Given the description of an element on the screen output the (x, y) to click on. 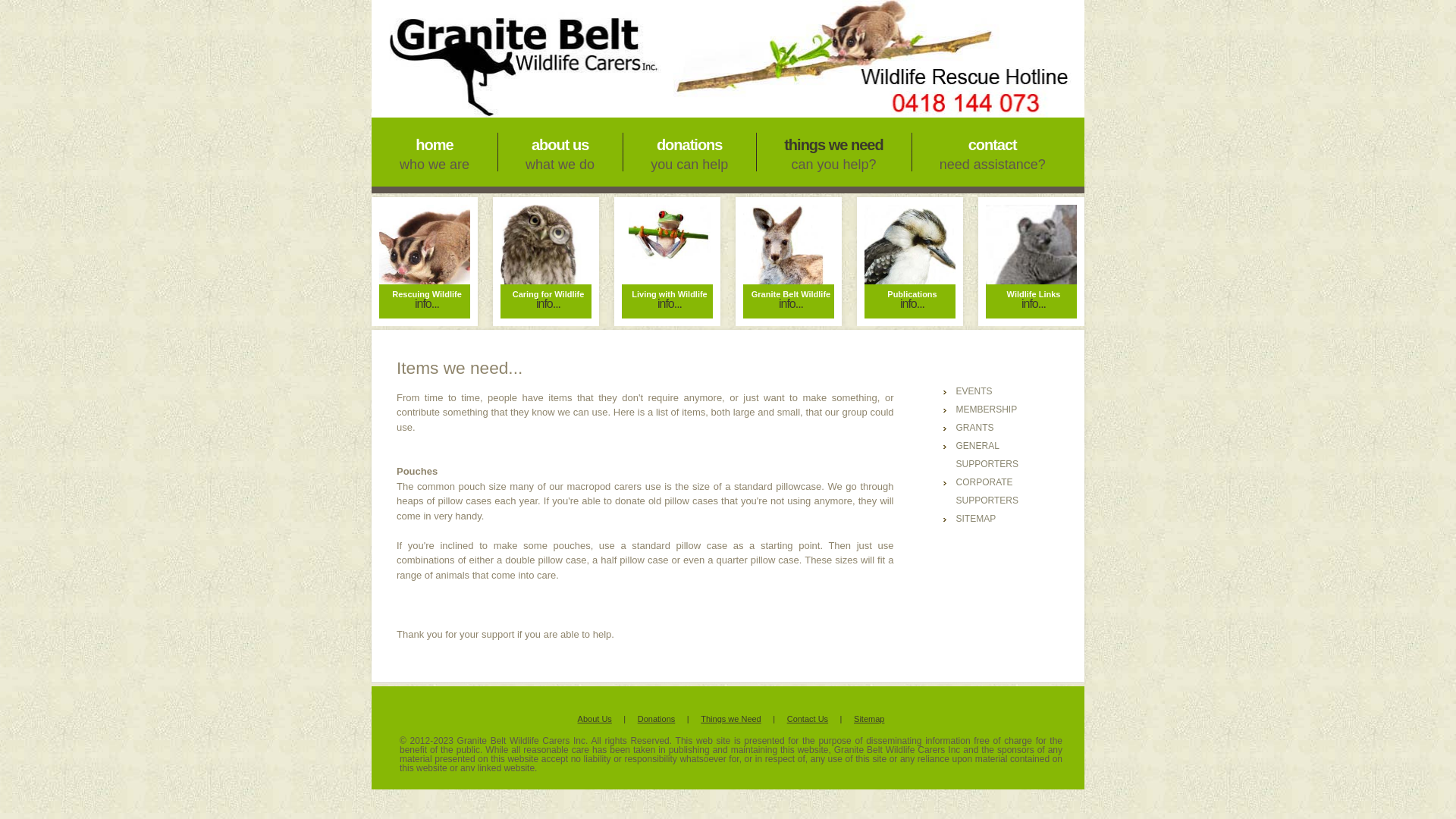
Sitemap Element type: text (868, 718)
CORPORATE SUPPORTERS Element type: text (986, 490)
SITEMAP Element type: text (975, 518)
GRANTS Element type: text (974, 427)
MEMBERSHIP Element type: text (985, 409)
About Us Element type: text (594, 718)
contact
need assistance? Element type: text (992, 152)
GENERAL SUPPORTERS Element type: text (986, 454)
info... Element type: text (1042, 303)
EVENTS Element type: text (973, 390)
info... Element type: text (678, 303)
info... Element type: text (799, 303)
Things we Need Element type: text (730, 718)
info... Element type: text (921, 303)
Contact Us Element type: text (807, 718)
things we need
can you help? Element type: text (833, 152)
info... Element type: text (557, 303)
home
who we are Element type: text (434, 152)
info... Element type: text (435, 303)
about us
what we do Element type: text (559, 152)
Donations Element type: text (656, 718)
donations
you can help Element type: text (689, 152)
